Given the description of an element on the screen output the (x, y) to click on. 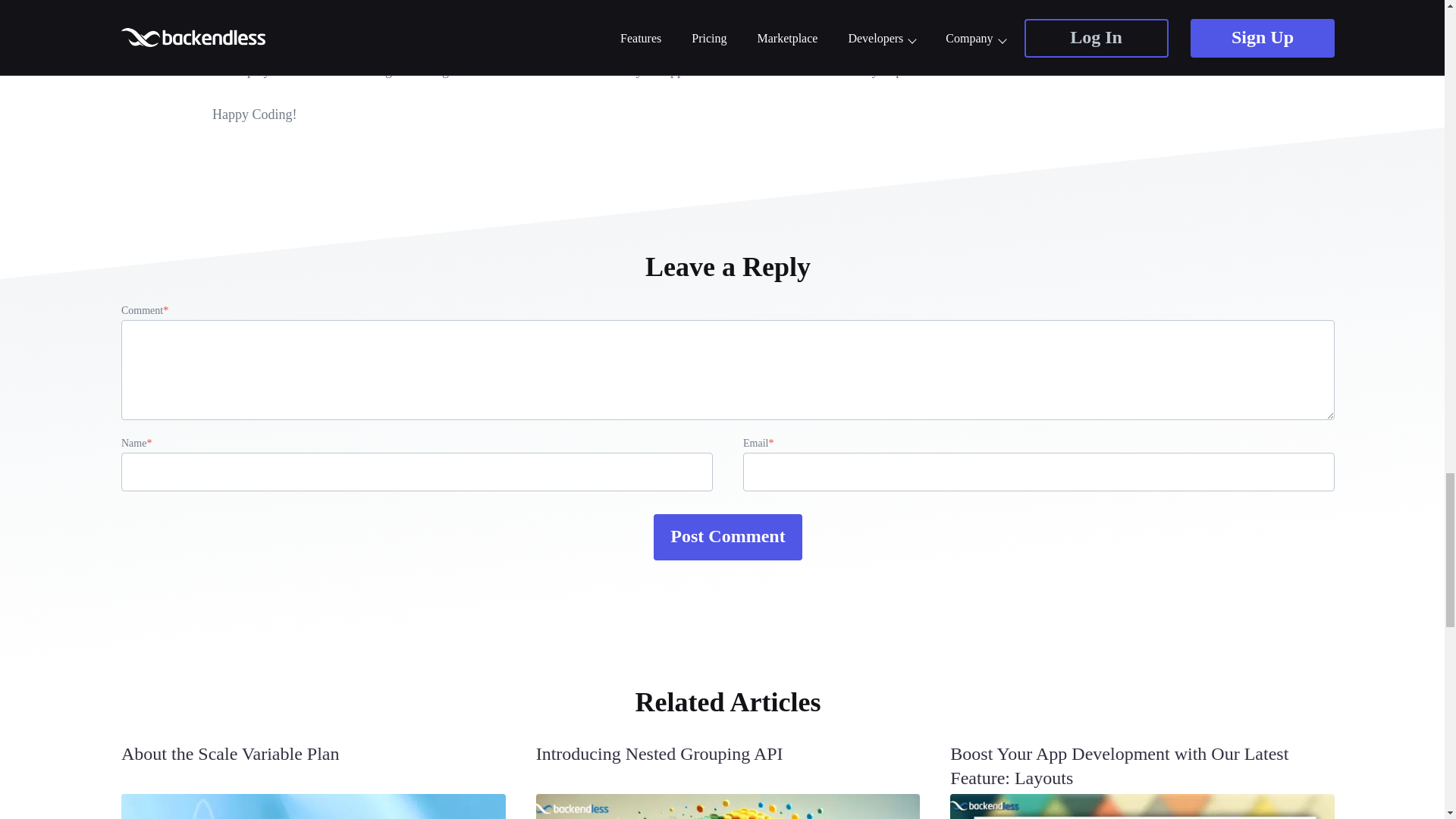
Post Comment (727, 537)
